Given the description of an element on the screen output the (x, y) to click on. 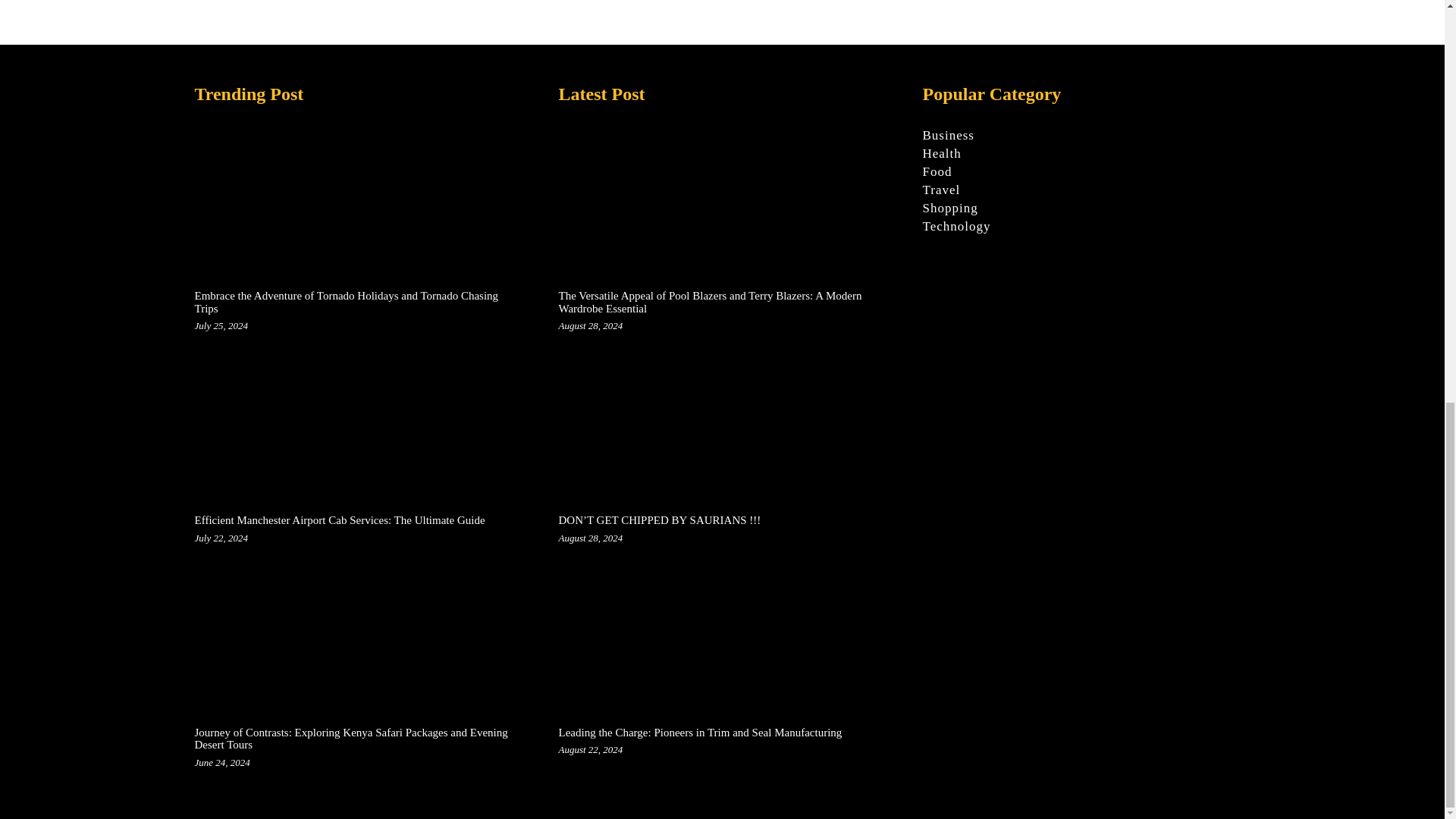
Leading the Charge: Pioneers in Trim and Seal Manufacturing (721, 634)
Leading the Charge: Pioneers in Trim and Seal Manufacturing (699, 732)
